Given the description of an element on the screen output the (x, y) to click on. 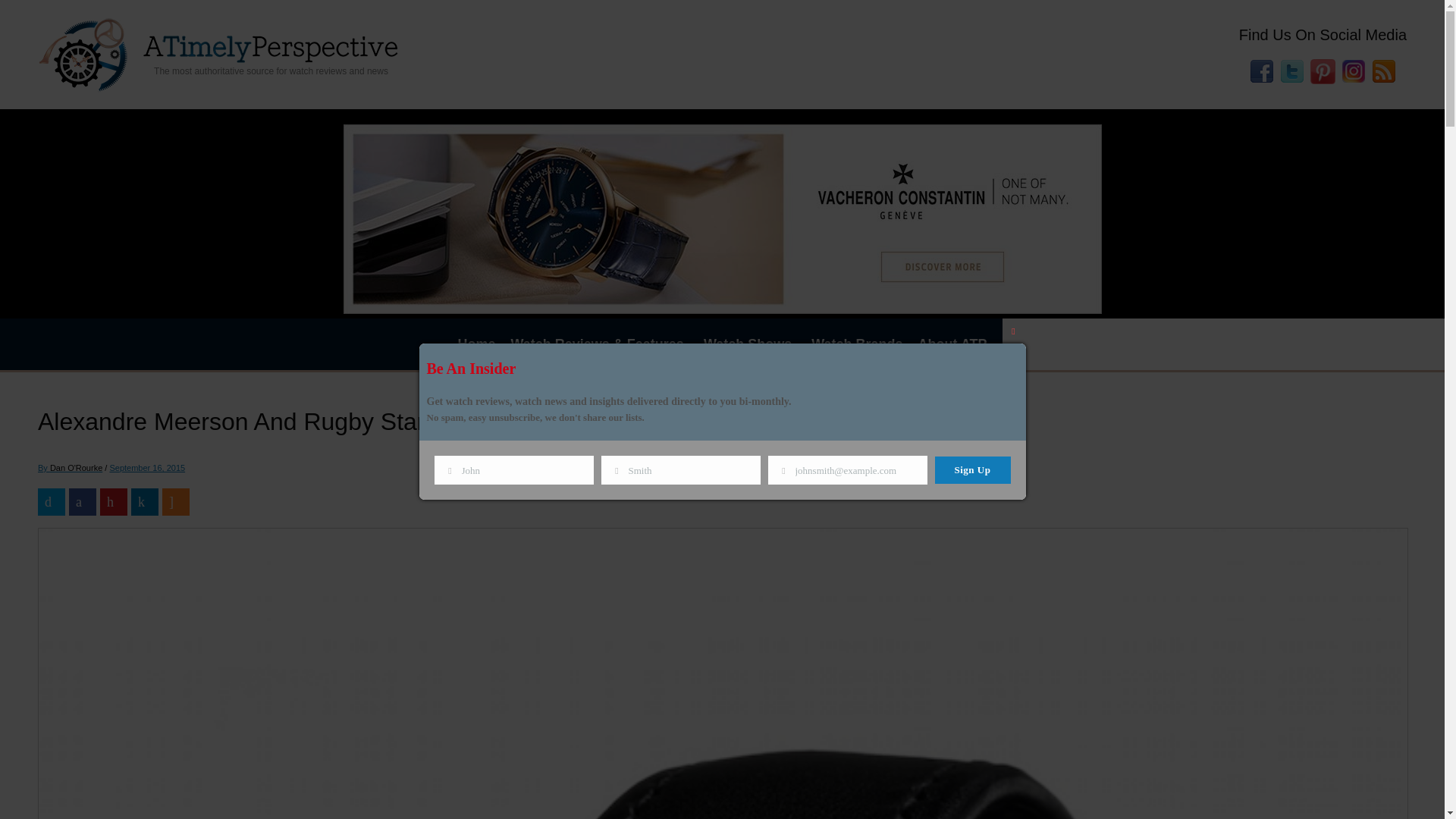
View all posts by Dan O'Rourke (69, 467)
Watch Shows (749, 343)
About ATP (952, 343)
Home (475, 343)
Watch Brands (856, 343)
5:30 am (148, 467)
